Given the description of an element on the screen output the (x, y) to click on. 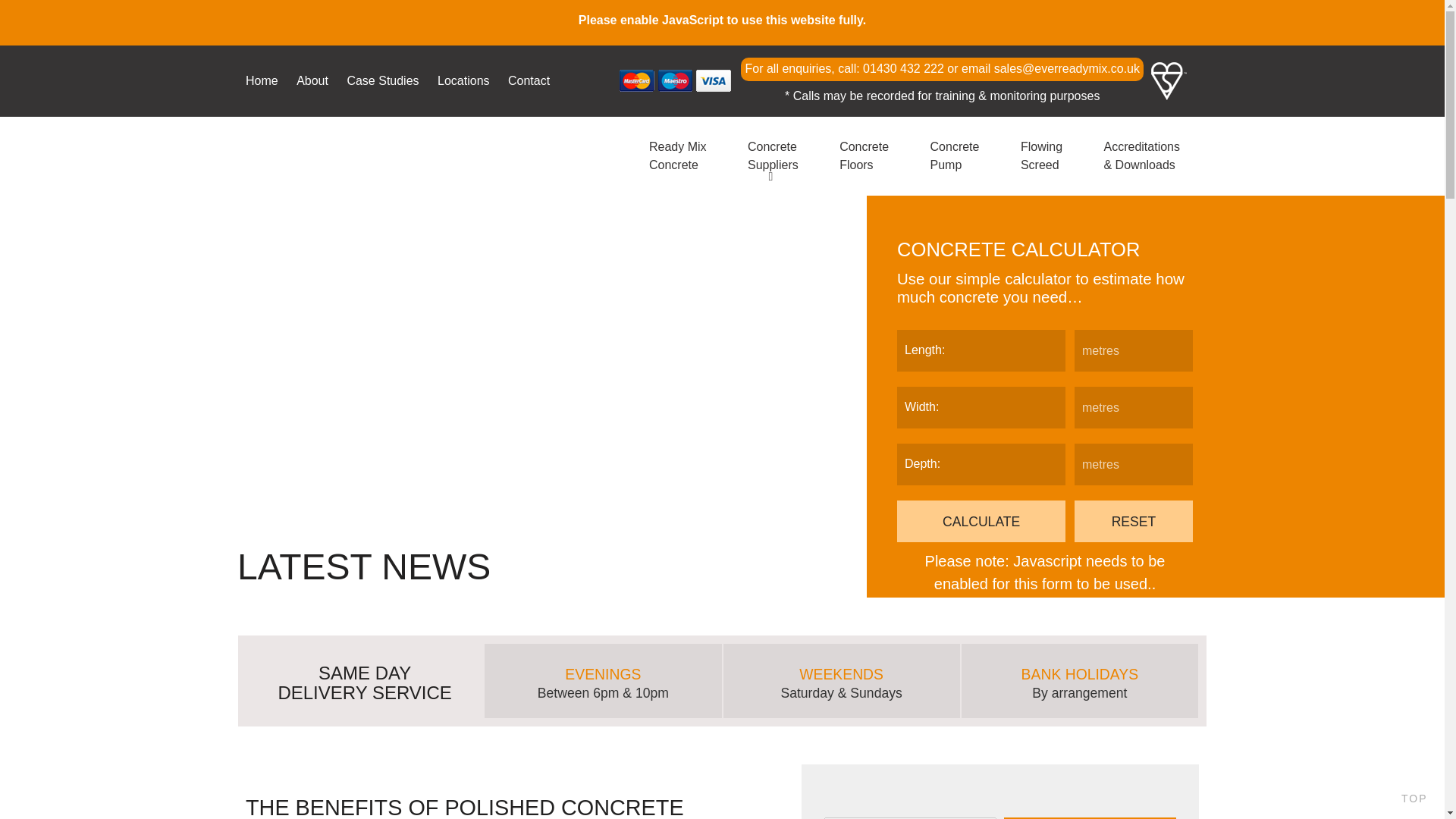
Contact (529, 82)
Home (262, 82)
01430 432 222 (903, 68)
Case Studies (382, 82)
Contact 01430 432222 (529, 82)
Locations (463, 82)
Calculate (677, 155)
Reset (980, 521)
